Given the description of an element on the screen output the (x, y) to click on. 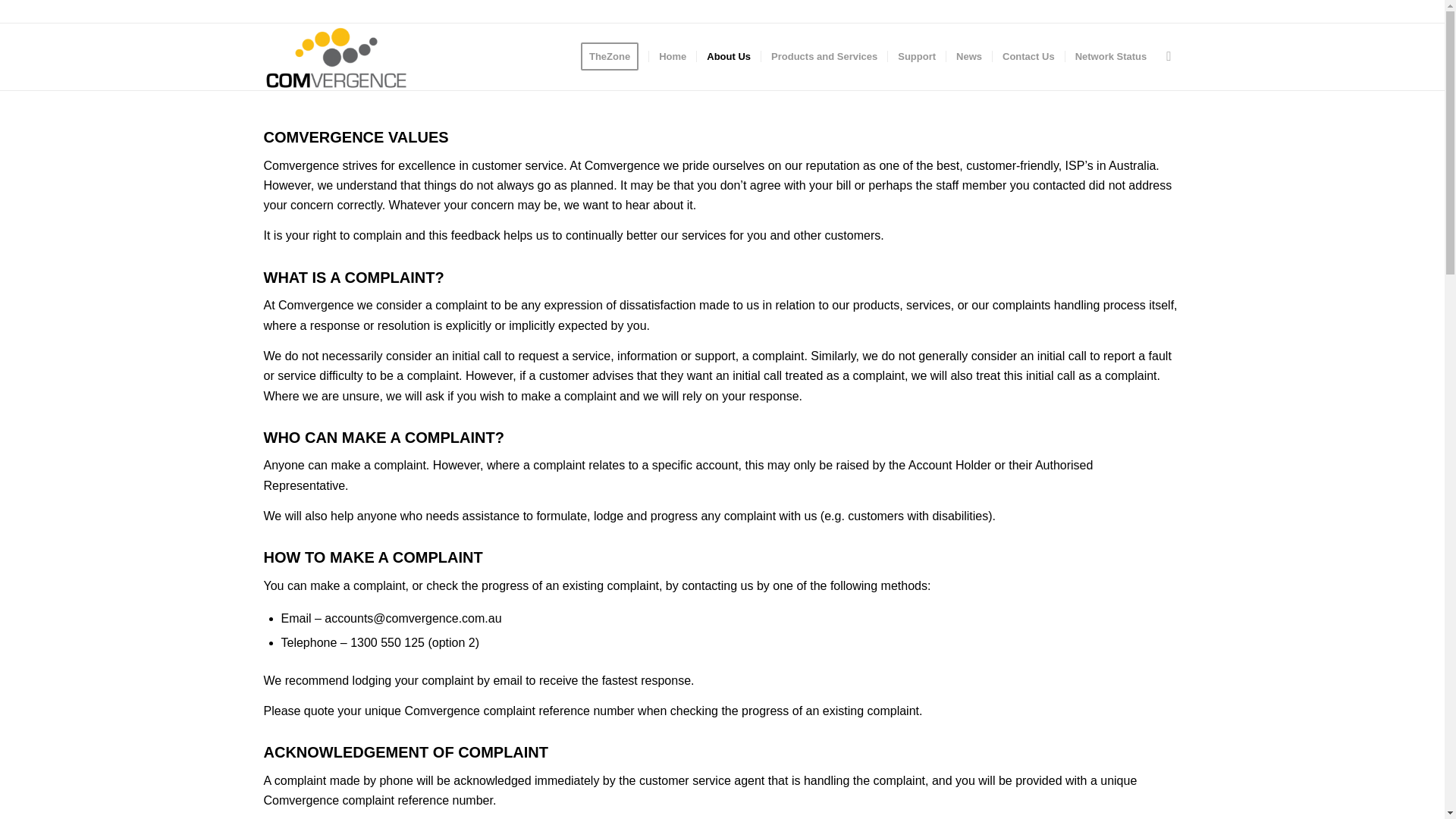
TheZone (613, 56)
Contact Us (1027, 56)
Network Status (1110, 56)
About Us (727, 56)
Products and Services (823, 56)
